Given the description of an element on the screen output the (x, y) to click on. 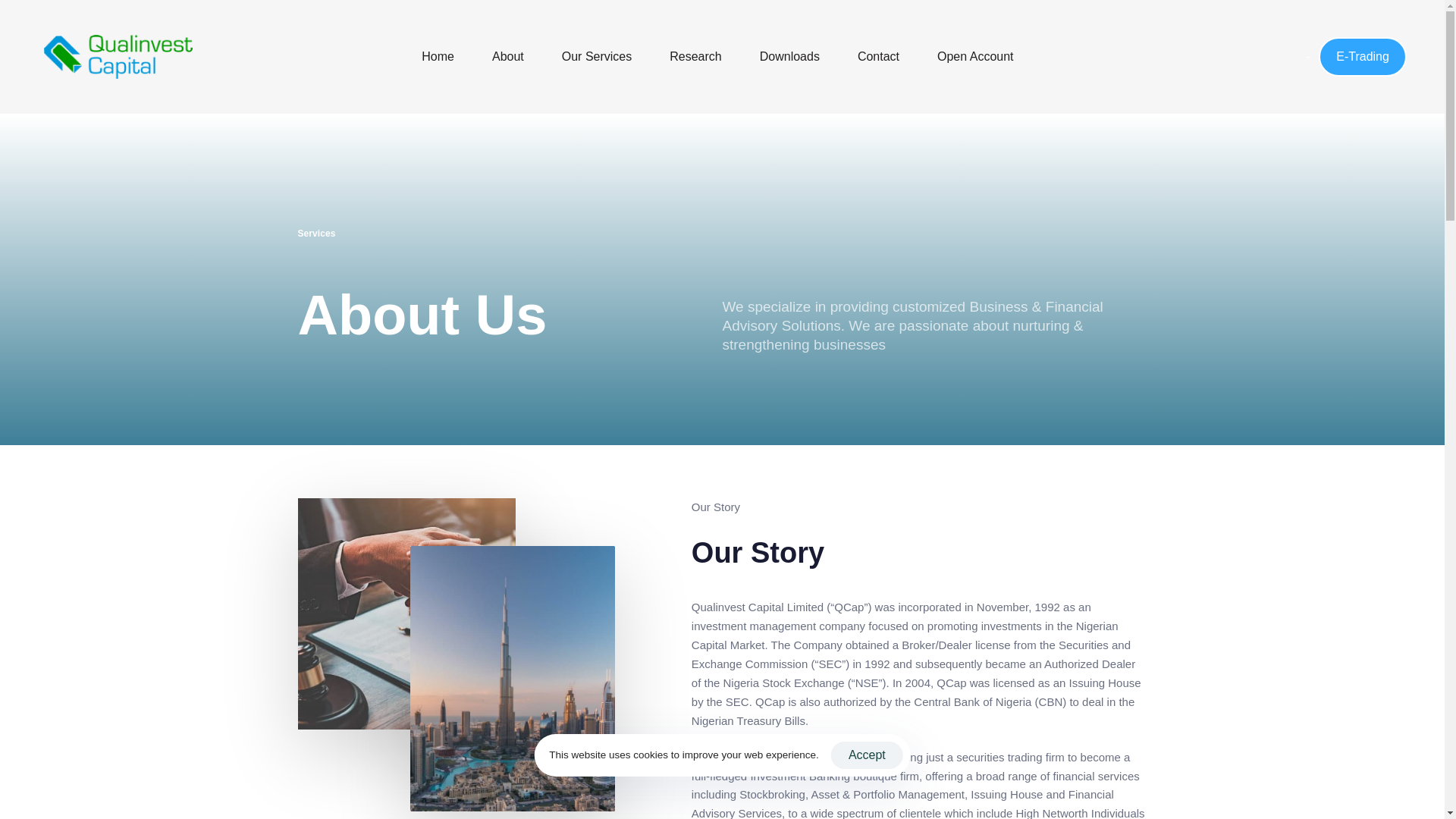
E-Trading (1362, 56)
Open Account (975, 56)
Our Services (596, 56)
